Given the description of an element on the screen output the (x, y) to click on. 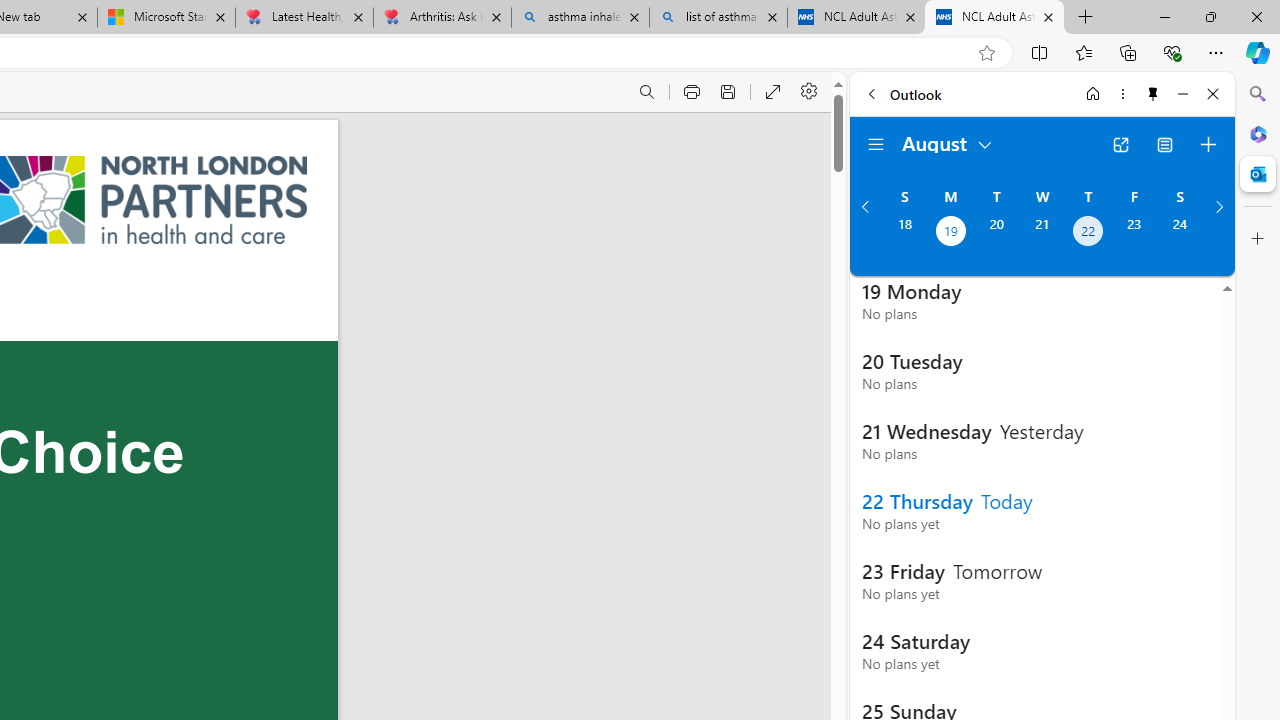
Sunday, August 18, 2024.  (904, 233)
Wednesday, August 21, 2024.  (1042, 233)
August (948, 141)
Thursday, August 22, 2024. Today.  (1088, 233)
Print (Ctrl+P) (692, 92)
Folder navigation (876, 144)
